Given the description of an element on the screen output the (x, y) to click on. 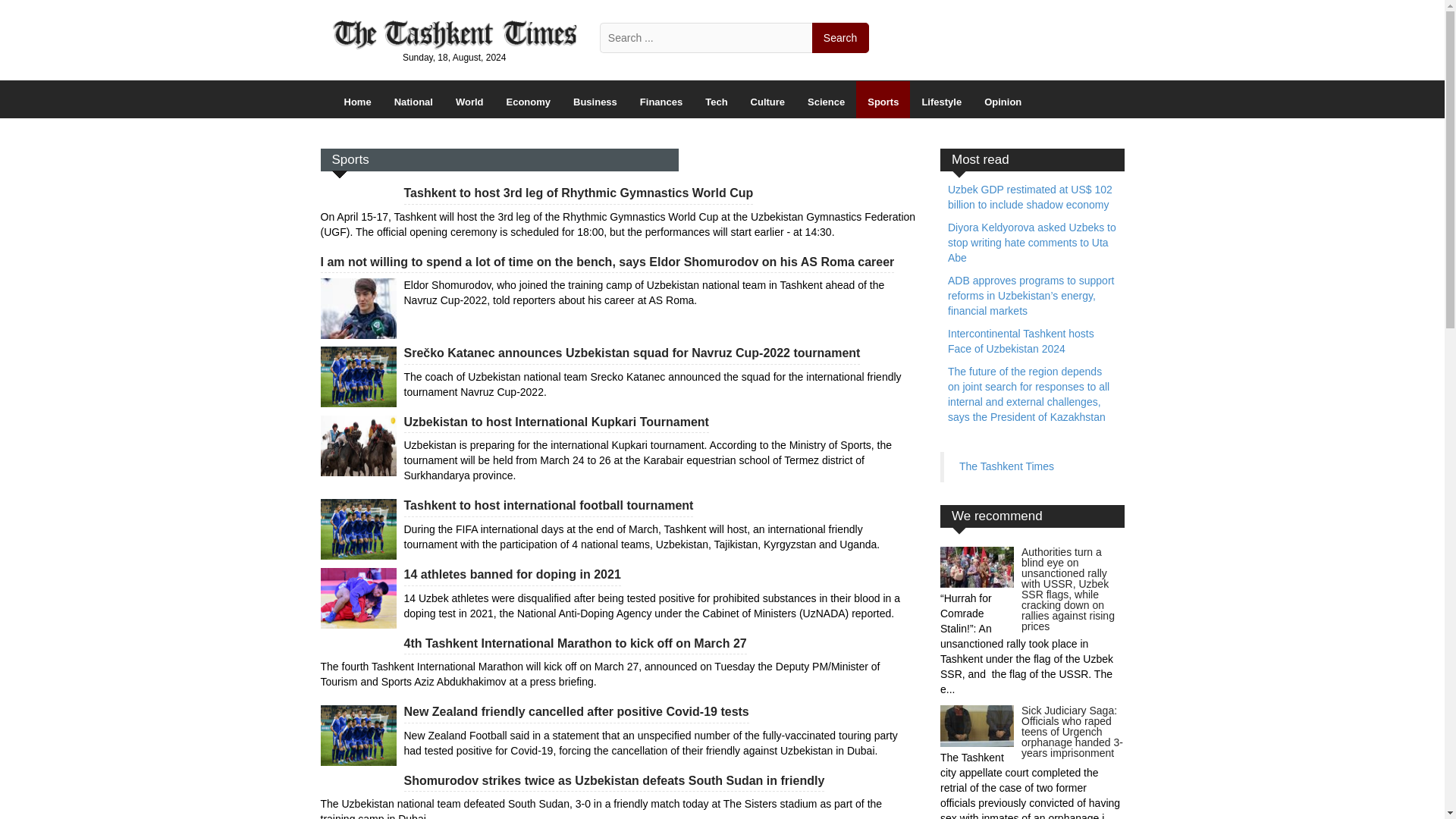
Tech (716, 99)
Economy (528, 99)
Go (840, 37)
Culture (767, 99)
Tashkent to host 3rd leg of Rhythmic Gymnastics World Cup (577, 192)
Opinion (1002, 99)
Sports (883, 99)
Lifestyle (941, 99)
Home (356, 99)
